Given the description of an element on the screen output the (x, y) to click on. 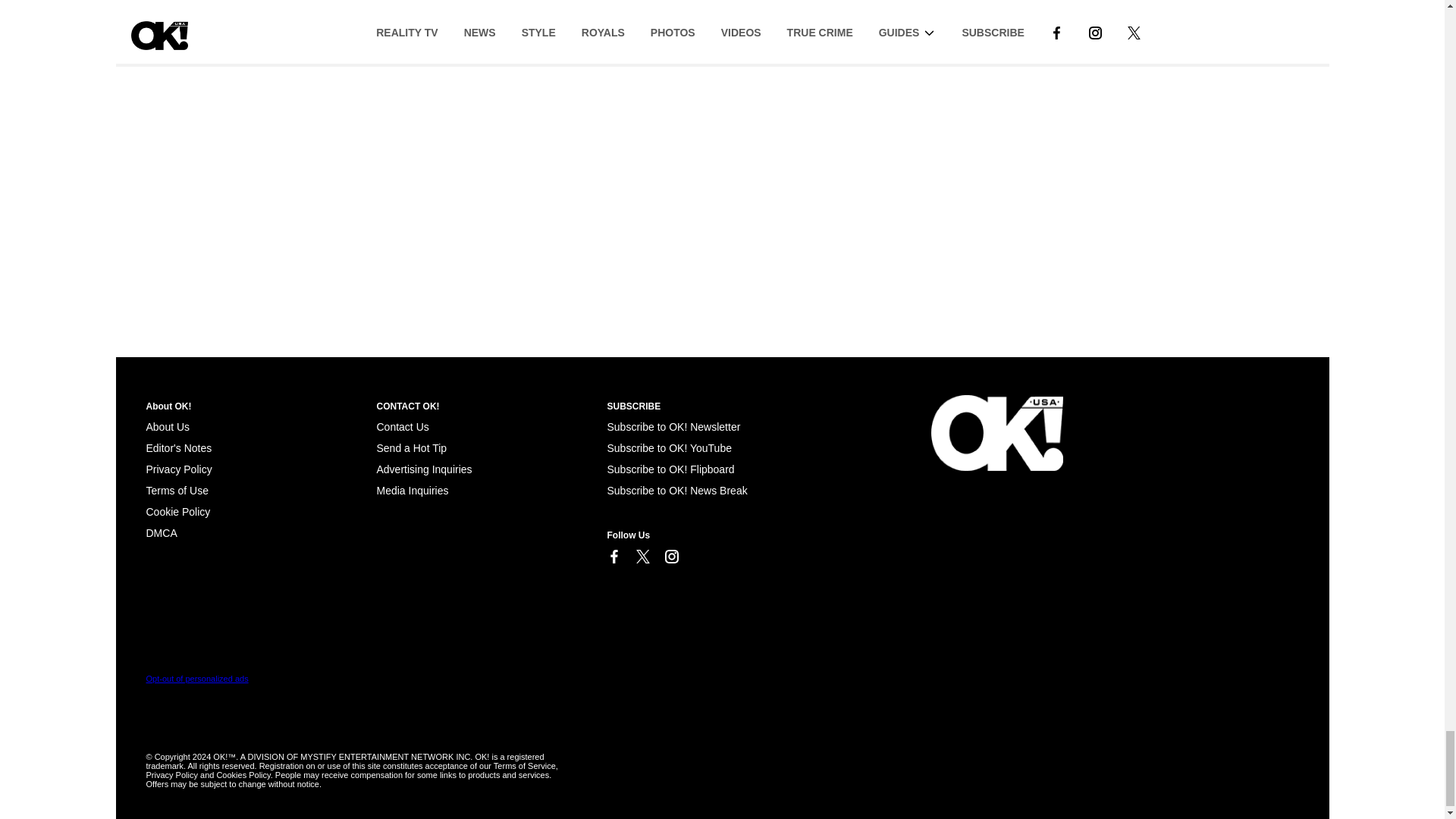
Privacy Policy (178, 469)
Terms of Use (176, 490)
Cookie Policy (160, 532)
Editor's Notes (178, 448)
Cookie Policy (177, 511)
Link to Instagram (670, 556)
Link to X (641, 556)
About Us (167, 426)
Link to Facebook (613, 556)
